Given the description of an element on the screen output the (x, y) to click on. 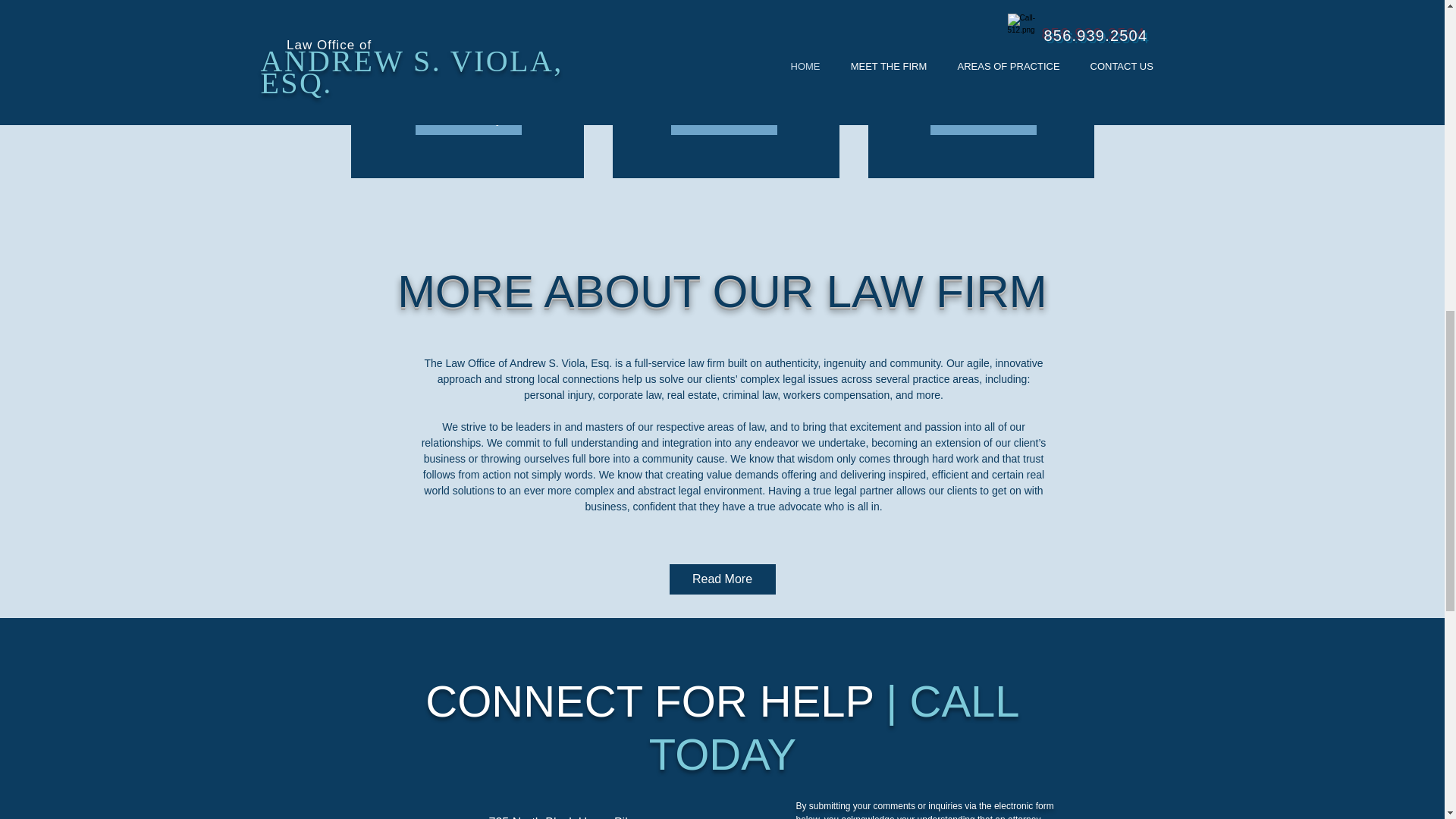
Provided Services (982, 119)
Read More (721, 579)
Our Delivery (467, 119)
Trusted Team (722, 119)
